Given the description of an element on the screen output the (x, y) to click on. 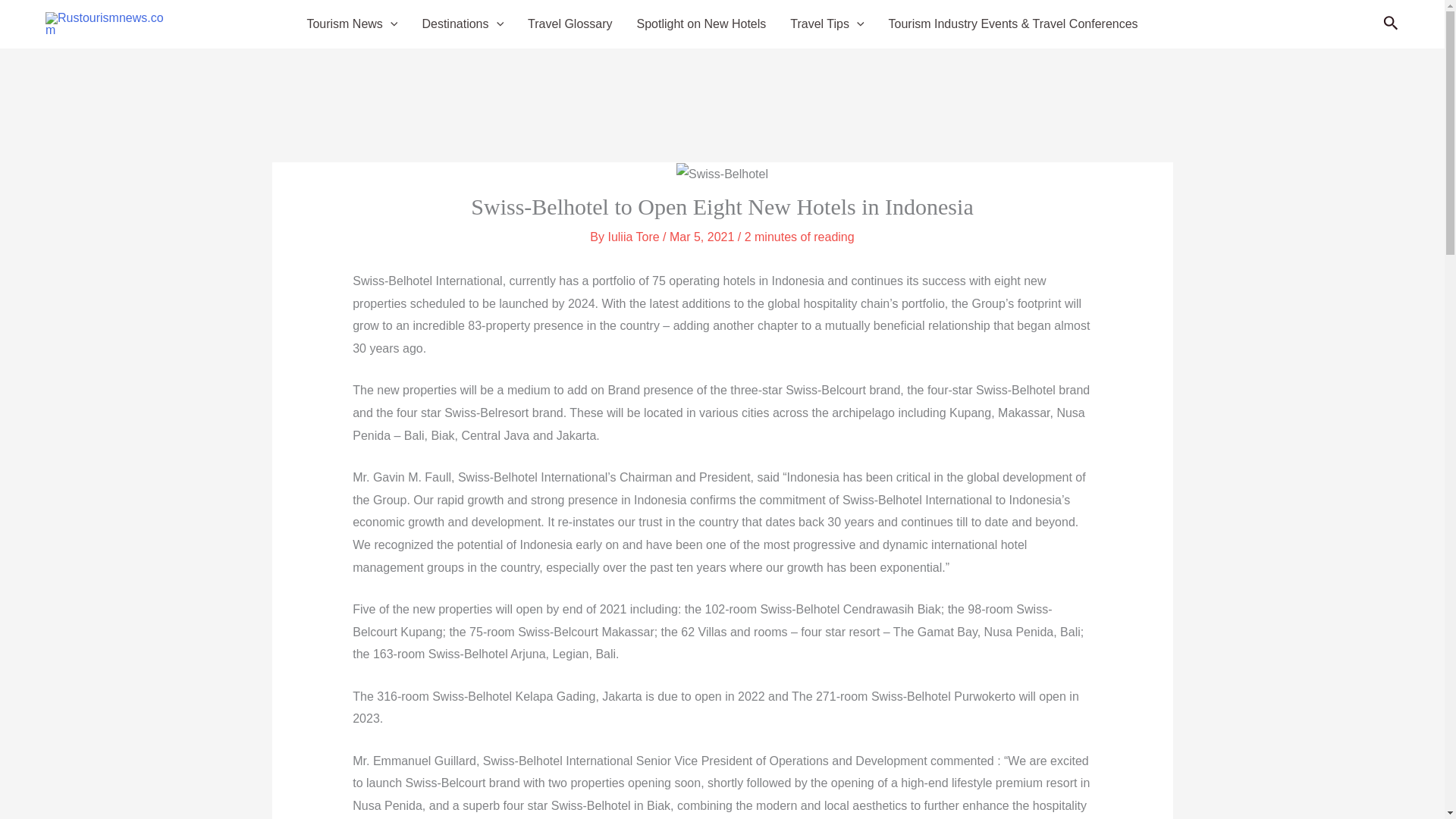
Destinations (462, 24)
Swiss-Belhotel to Open Eight New Hotels in Indonesia 2 (722, 173)
View all posts by Iuliia Tore (634, 236)
Tourism News (351, 24)
